Given the description of an element on the screen output the (x, y) to click on. 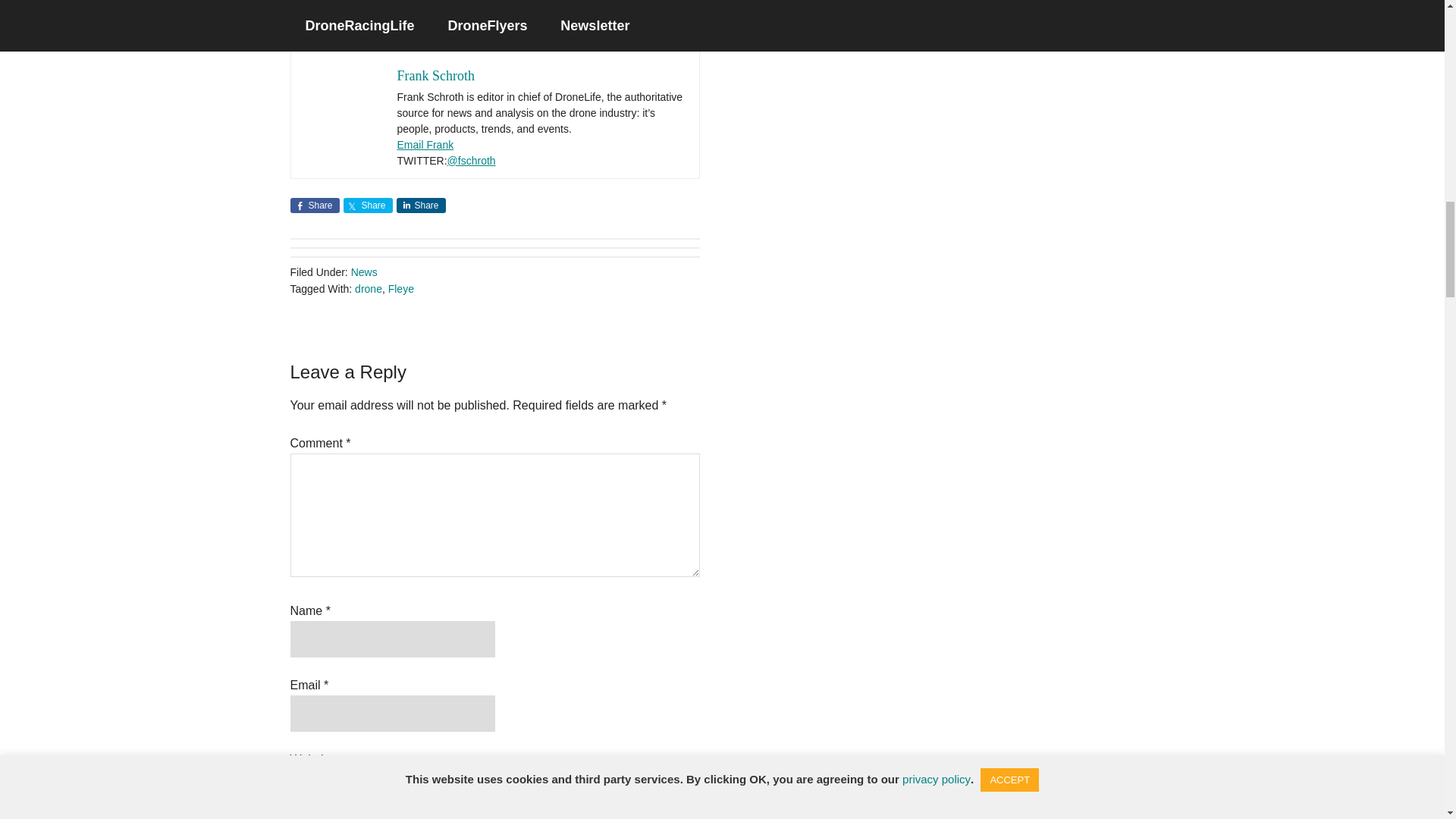
Frank Schroth (436, 75)
Share (314, 205)
Email Frank (425, 144)
